Given the description of an element on the screen output the (x, y) to click on. 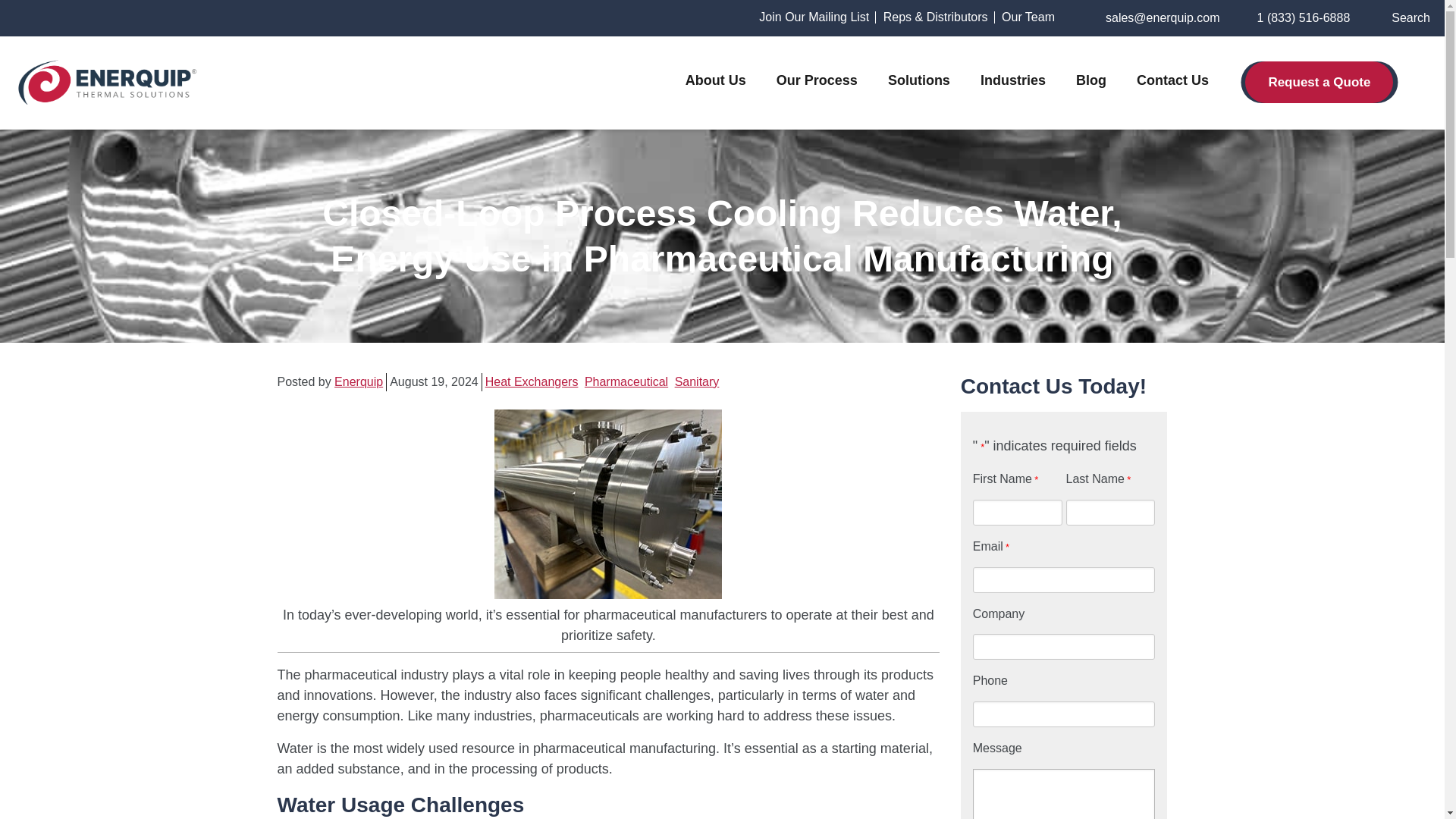
Join Our Mailing List (813, 17)
Enerquip Thermal Solutions (108, 82)
Our Process (816, 80)
Solutions (919, 80)
Search (1401, 18)
Our Team (1027, 17)
About Us (716, 80)
